Given the description of an element on the screen output the (x, y) to click on. 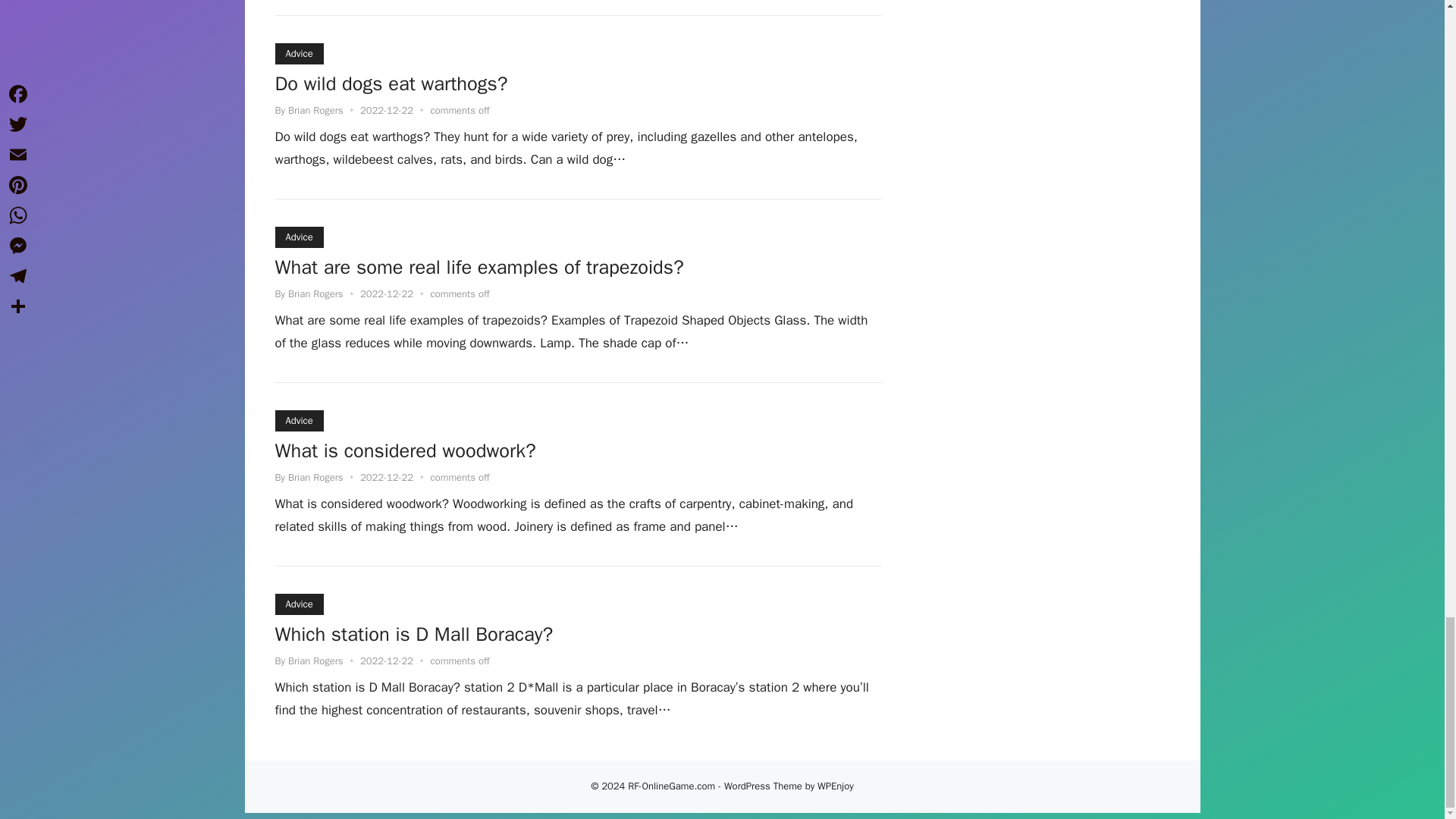
Posts by Brian Rogers (315, 110)
Posts by Brian Rogers (315, 477)
Posts by Brian Rogers (315, 293)
Posts by Brian Rogers (315, 660)
